Given the description of an element on the screen output the (x, y) to click on. 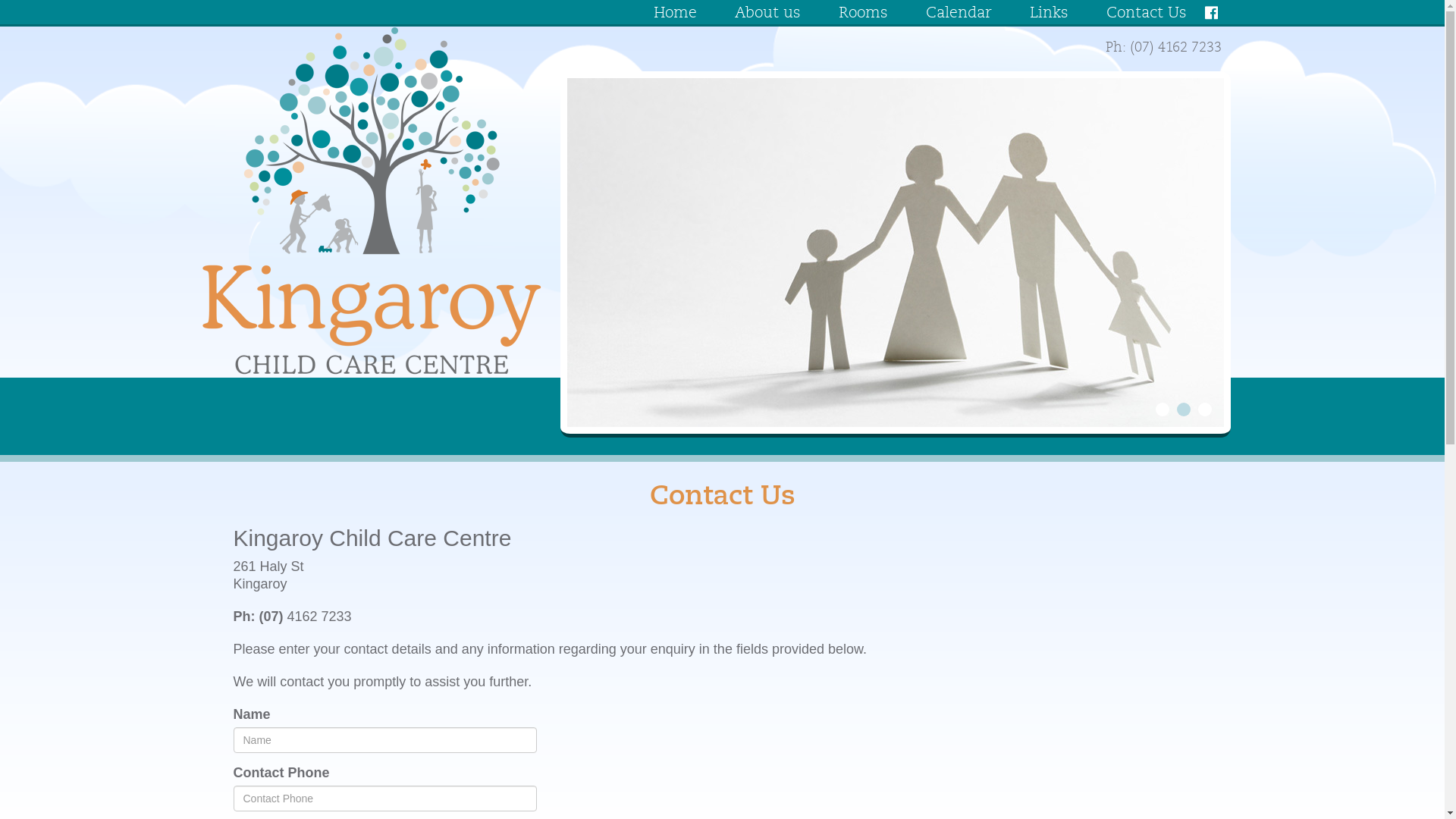
Calendar Element type: text (958, 12)
Contact Us Element type: text (1145, 12)
Rooms Element type: text (863, 12)
About us Element type: text (767, 12)
Links Element type: text (1048, 12)
Ph: (07) 4162 7233 Element type: text (1163, 47)
Home Element type: text (674, 12)
